Given the description of an element on the screen output the (x, y) to click on. 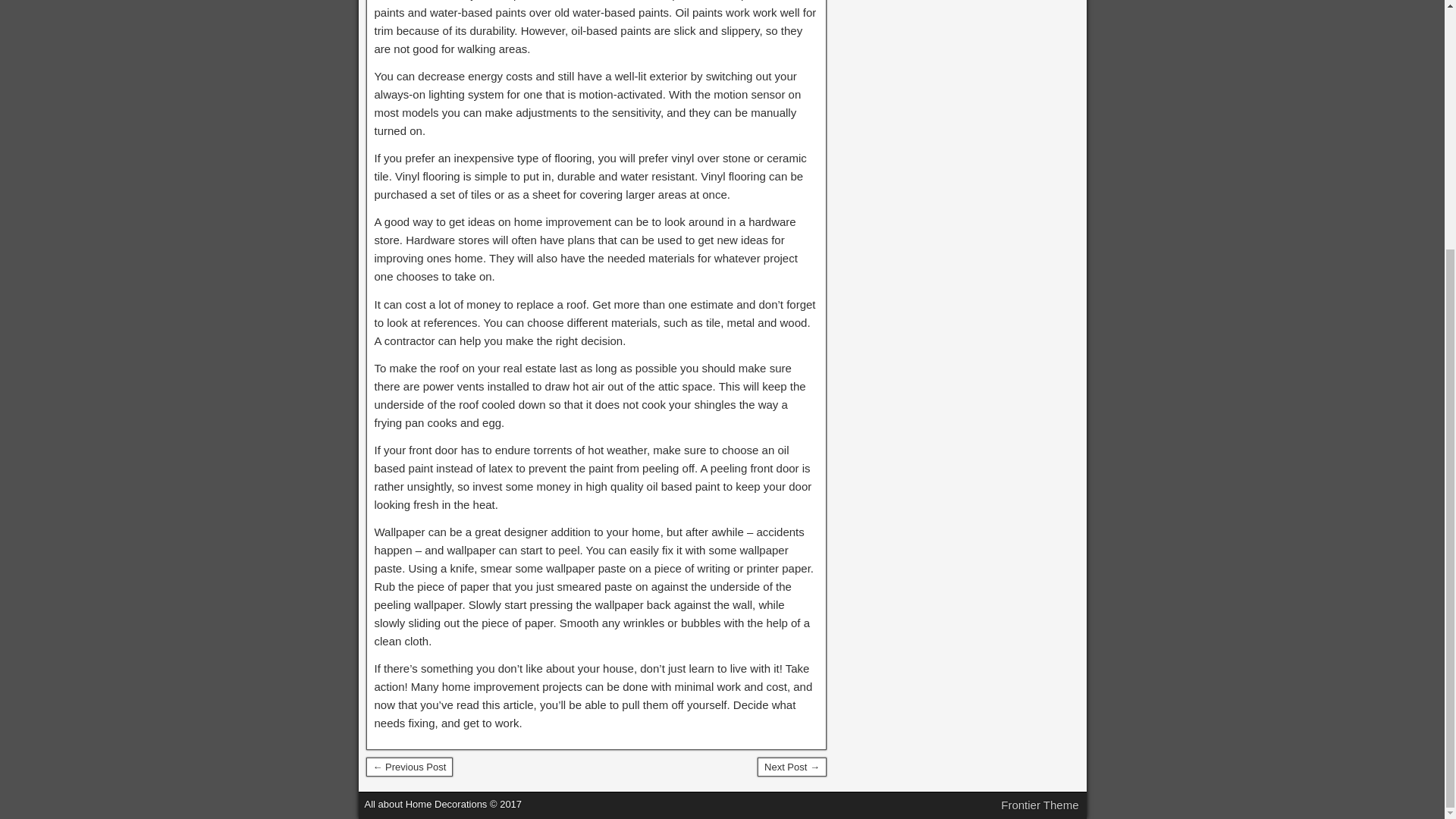
Frontier Theme (1039, 804)
Get Answers To Your Home Improvement Questions Here (792, 767)
Home Improvement Tips Made Easy For The Average Homeowner (408, 767)
